Given the description of an element on the screen output the (x, y) to click on. 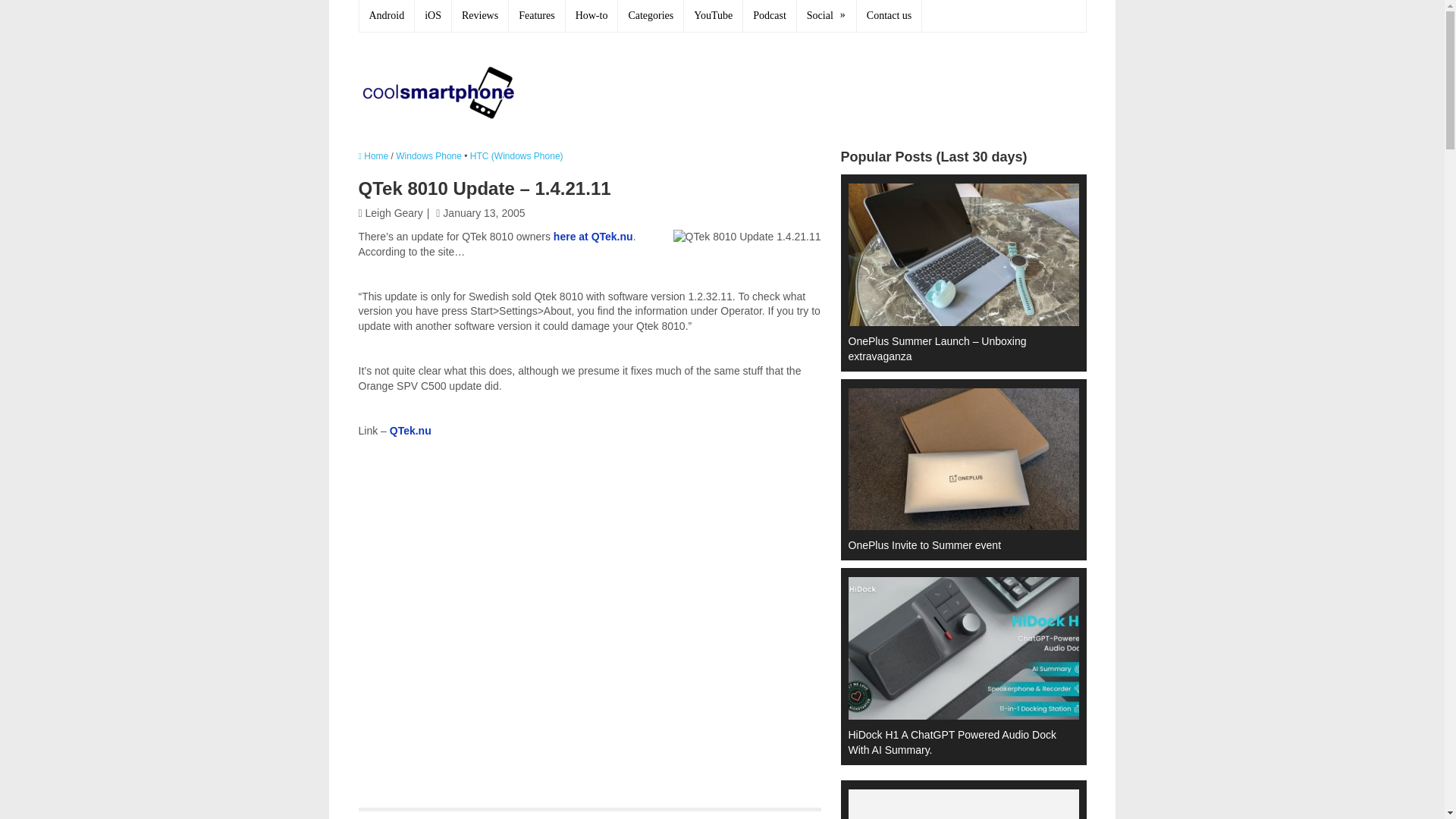
iOS (432, 15)
Home (373, 155)
Leigh Geary (394, 213)
HiDock H1 A ChatGPT Powered Audio Dock With AI Summary. (955, 665)
HiDock H1 A ChatGPT Powered Audio Dock With AI Summary. (955, 665)
Contact us (890, 15)
OnePlus Invite to Summer event (955, 468)
Android (386, 15)
How-to (592, 15)
QTek.nu (410, 430)
QTek 8010 Update   1.4.21.11 (746, 237)
Windows Phone (428, 155)
YouTube (713, 15)
OnePlus Invite to Summer event (955, 468)
Advertisement (810, 89)
